Given the description of an element on the screen output the (x, y) to click on. 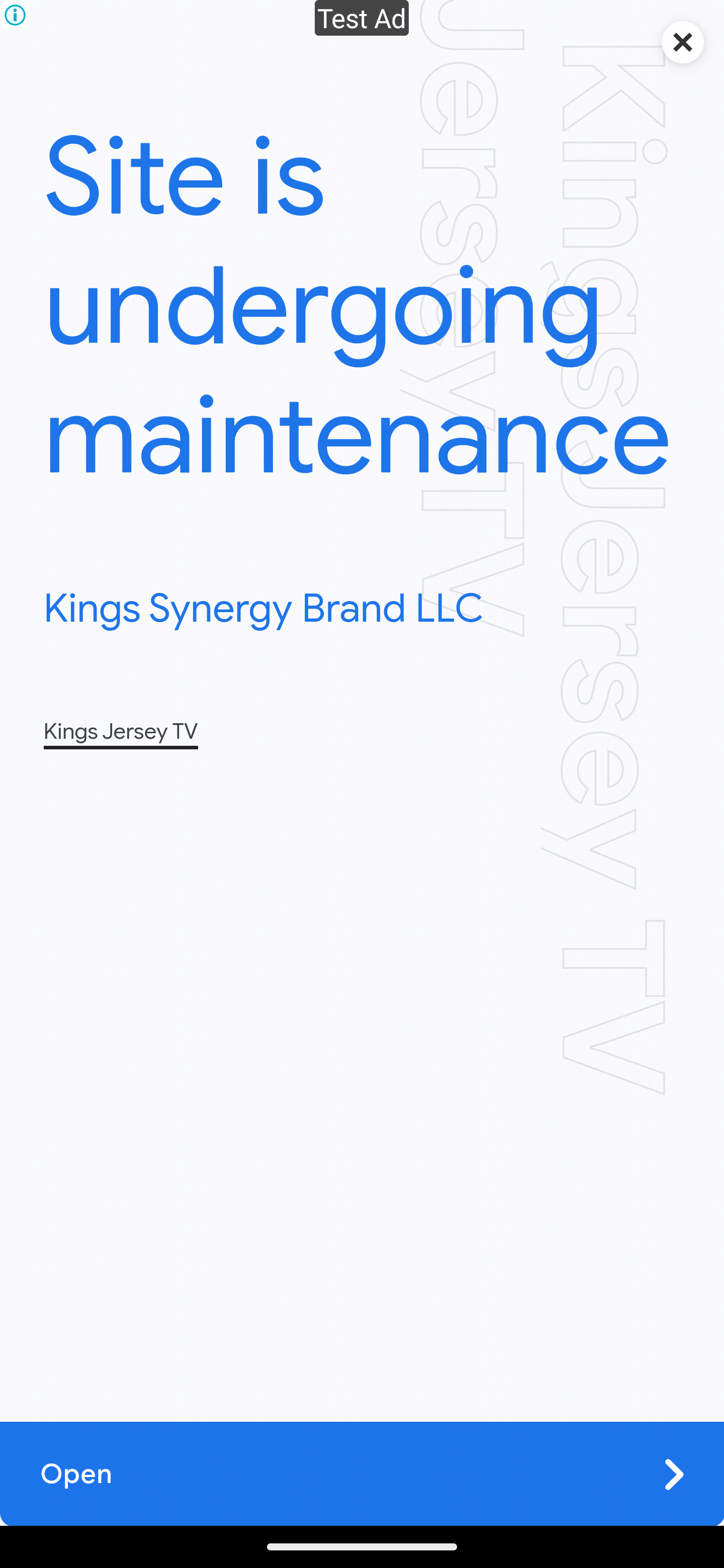
Kings Synergy Brand LLC (263, 609)
Kings Jersey TV (119, 730)
Open (362, 1473)
